Given the description of an element on the screen output the (x, y) to click on. 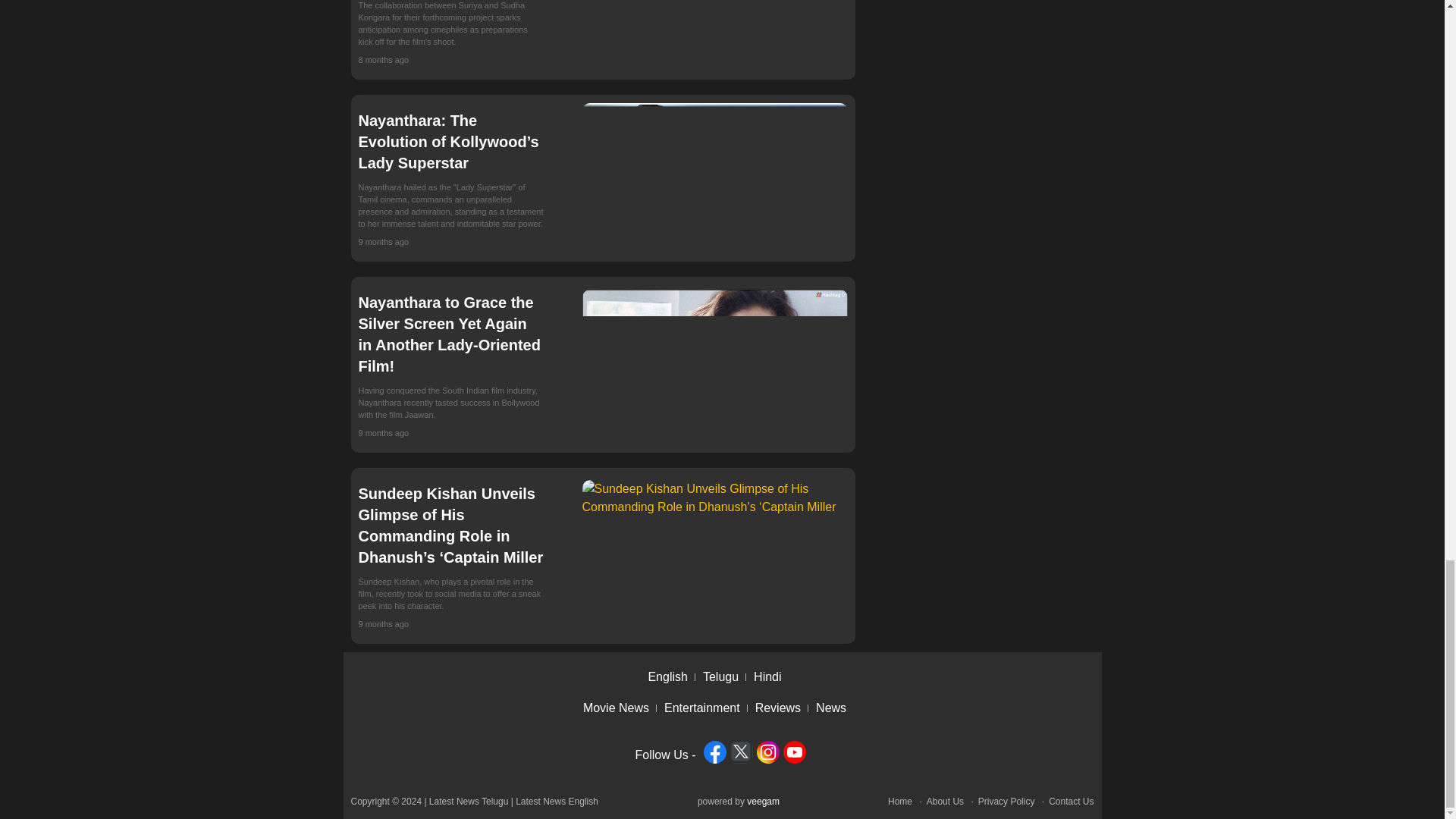
English (670, 676)
Telugu (724, 676)
Hindi (771, 676)
